Given the description of an element on the screen output the (x, y) to click on. 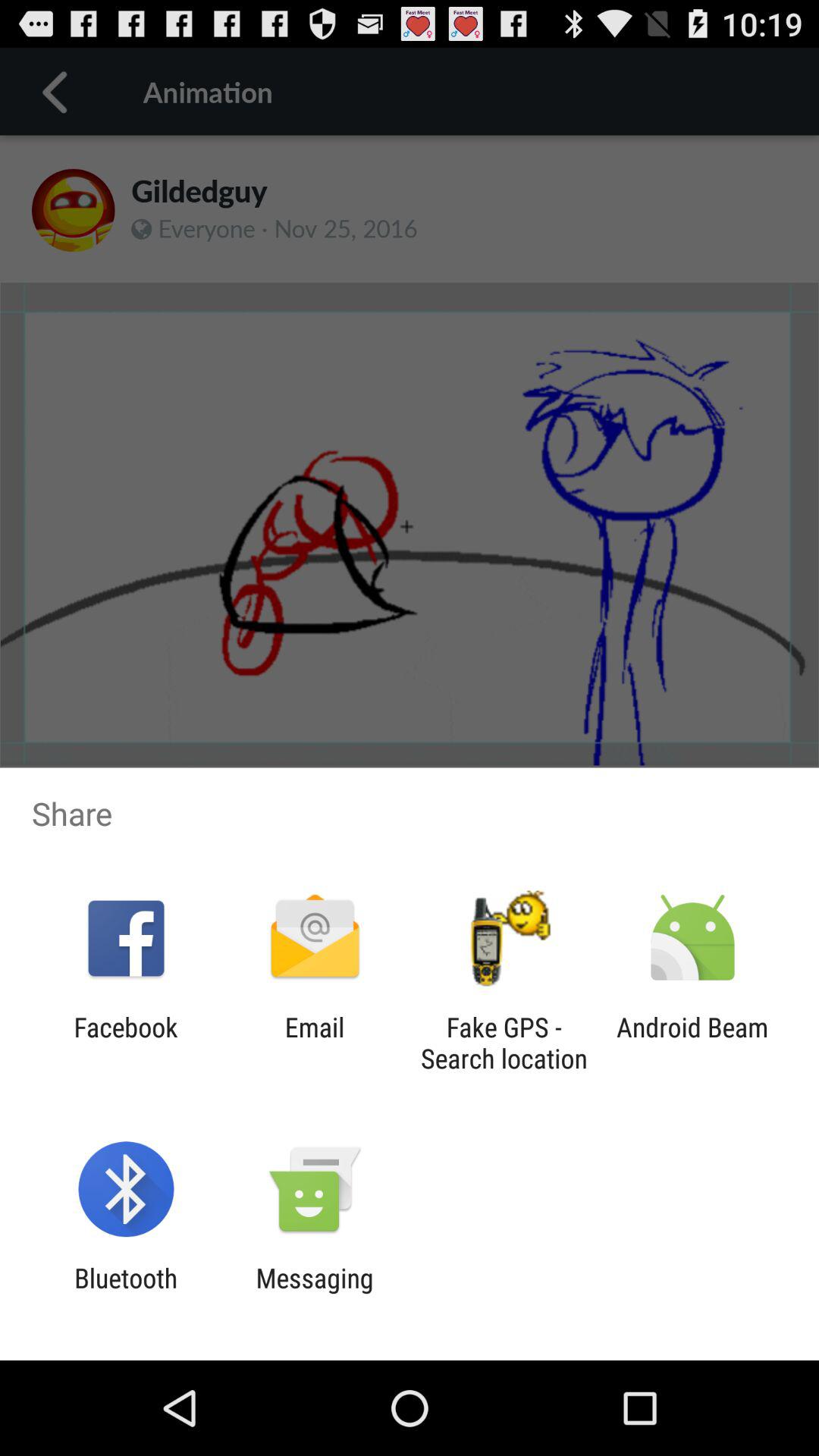
launch the item to the left of the fake gps search icon (314, 1042)
